Given the description of an element on the screen output the (x, y) to click on. 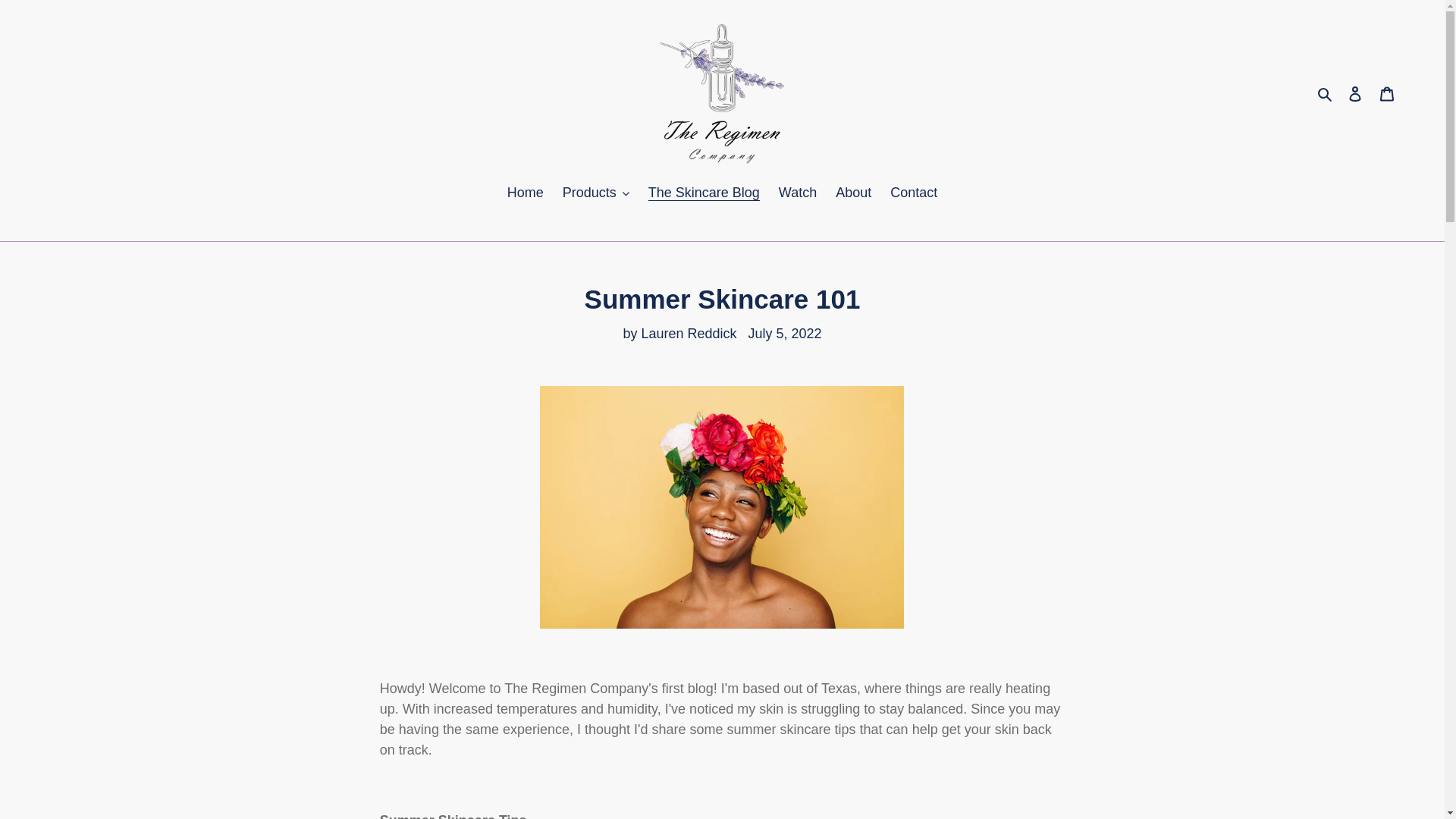
Log in (1355, 93)
The Skincare Blog (703, 193)
Cart (1387, 93)
Watch (797, 193)
Contact (913, 193)
Home (525, 193)
About (853, 193)
Products (595, 193)
Search (1326, 92)
